Given the description of an element on the screen output the (x, y) to click on. 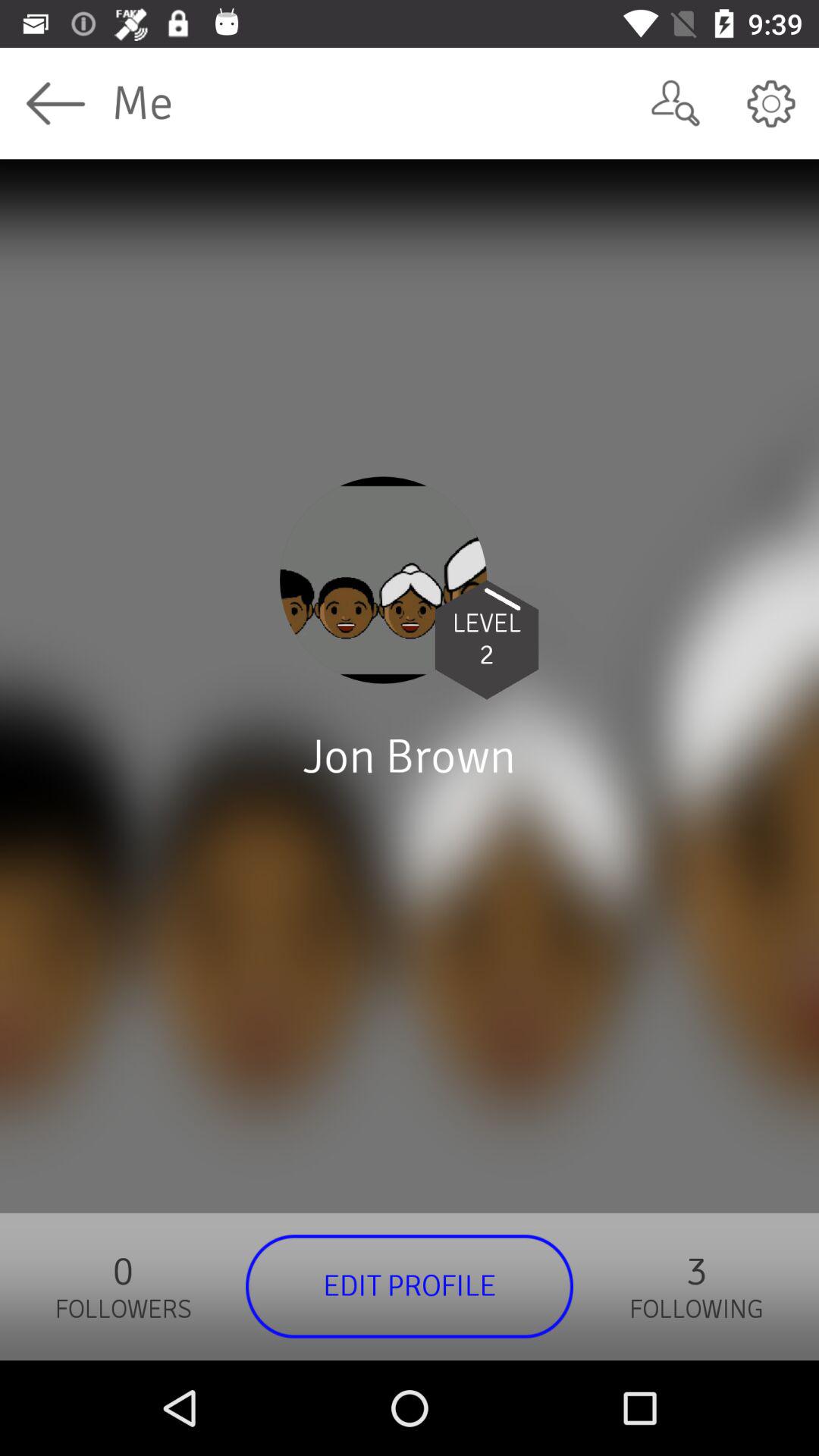
swipe until the edit profile item (409, 1286)
